Given the description of an element on the screen output the (x, y) to click on. 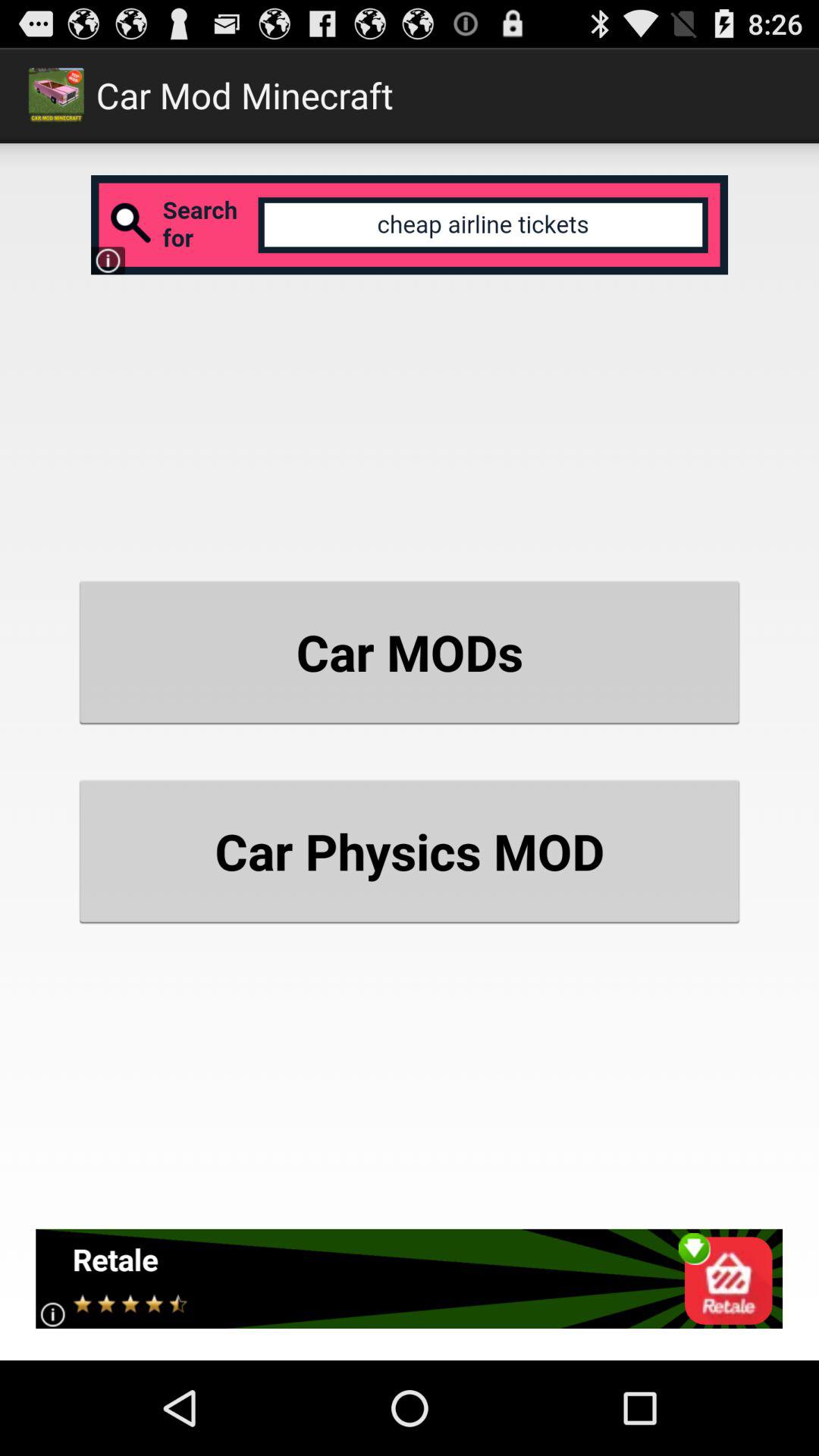
choose the item at the top (409, 224)
